Given the description of an element on the screen output the (x, y) to click on. 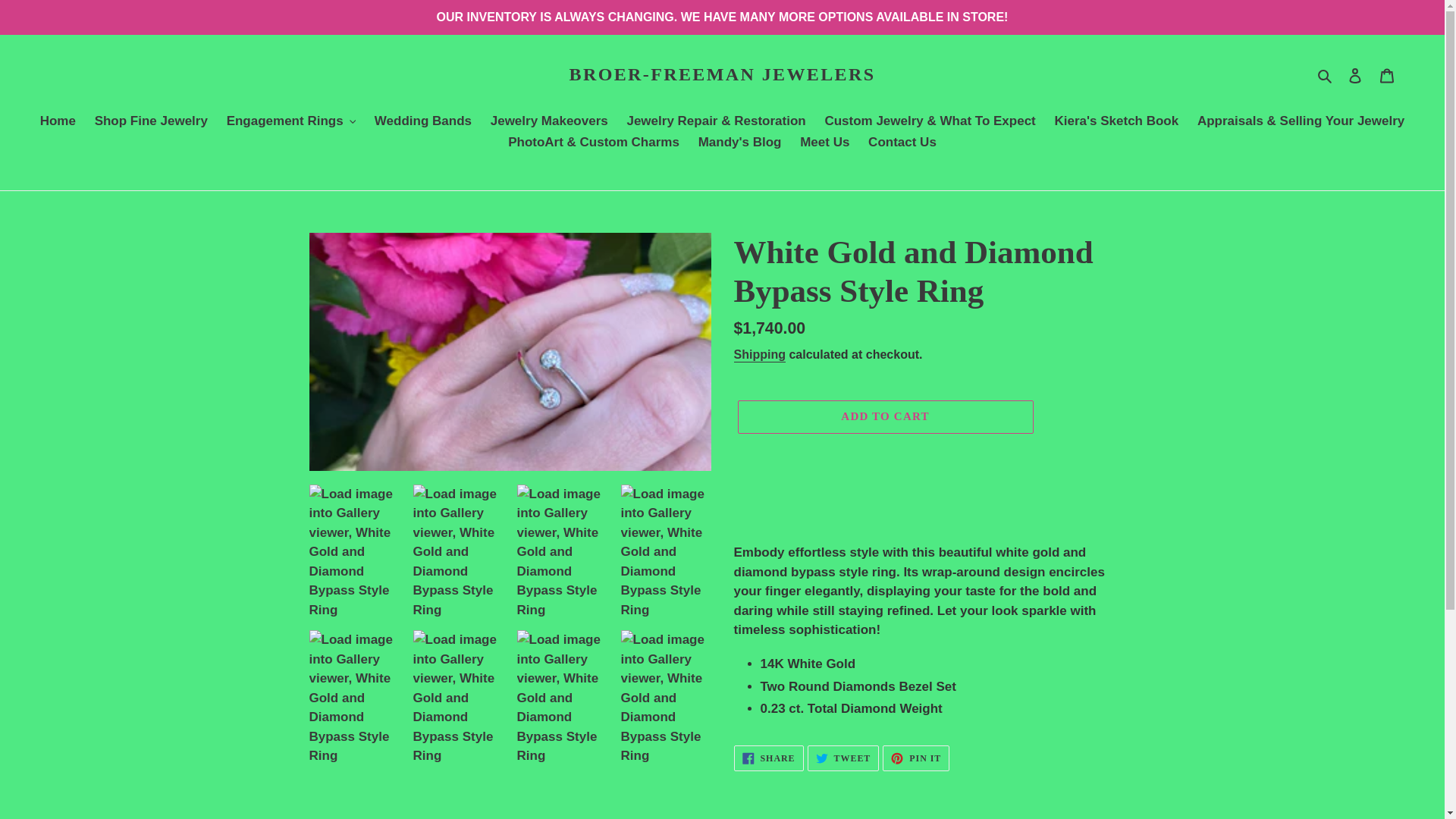
Search (1326, 74)
Wedding Bands (422, 121)
Engagement Rings (290, 121)
BROER-FREEMAN JEWELERS (722, 74)
Home (57, 121)
Log in (1355, 74)
Cart (1387, 74)
Jewelry Makeovers (549, 121)
Mandy's Blog (739, 143)
Shop Fine Jewelry (151, 121)
Kiera's Sketch Book (1116, 121)
